Given the description of an element on the screen output the (x, y) to click on. 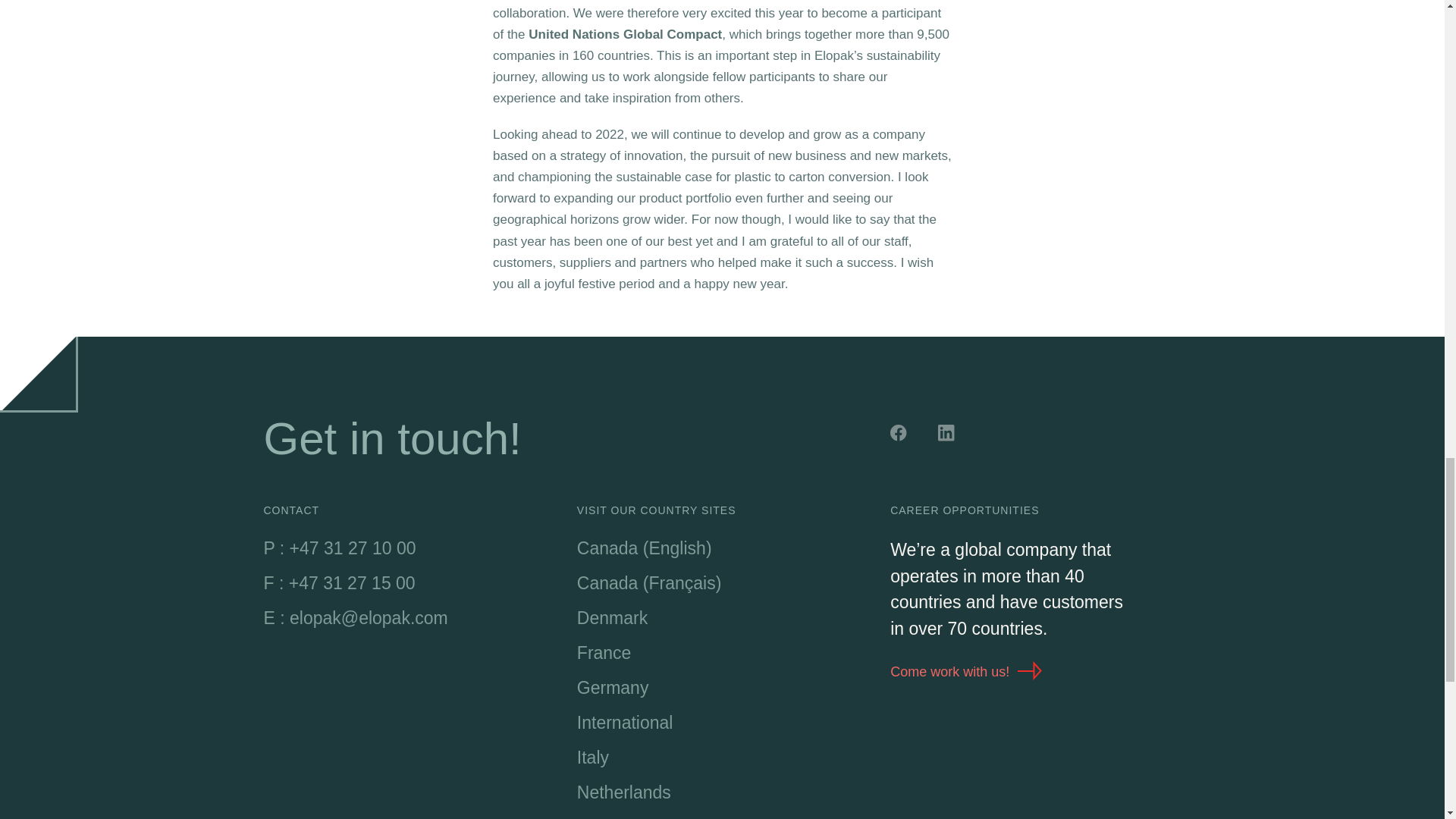
LinkedIn (948, 435)
Facebook-icon (900, 435)
